Given the description of an element on the screen output the (x, y) to click on. 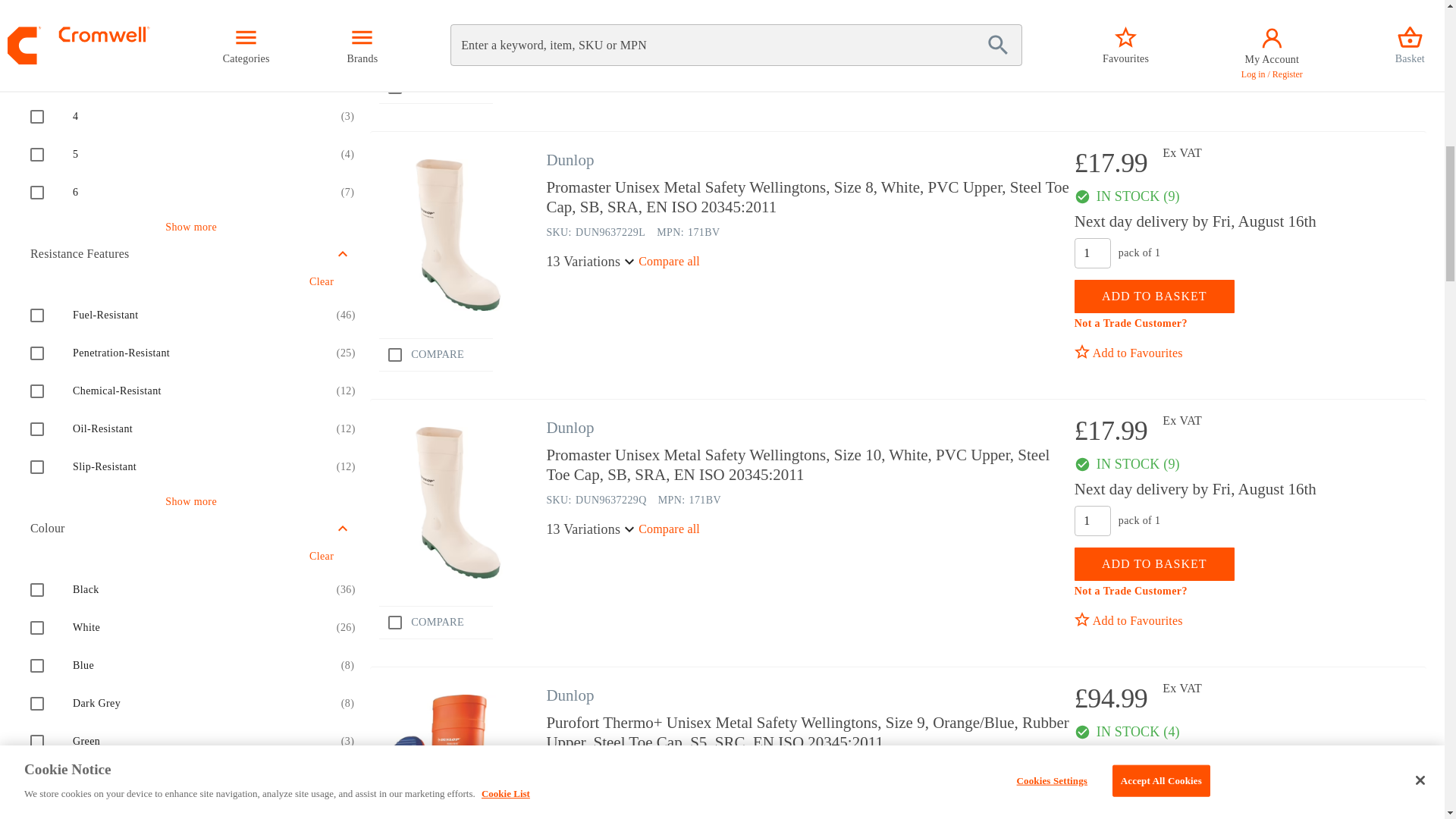
1 (1092, 788)
Clear (320, 7)
1 (1092, 253)
Show more (190, 776)
1 (1092, 521)
Show more (190, 227)
Clear (320, 556)
Show more (190, 501)
Clear (320, 281)
